Given the description of an element on the screen output the (x, y) to click on. 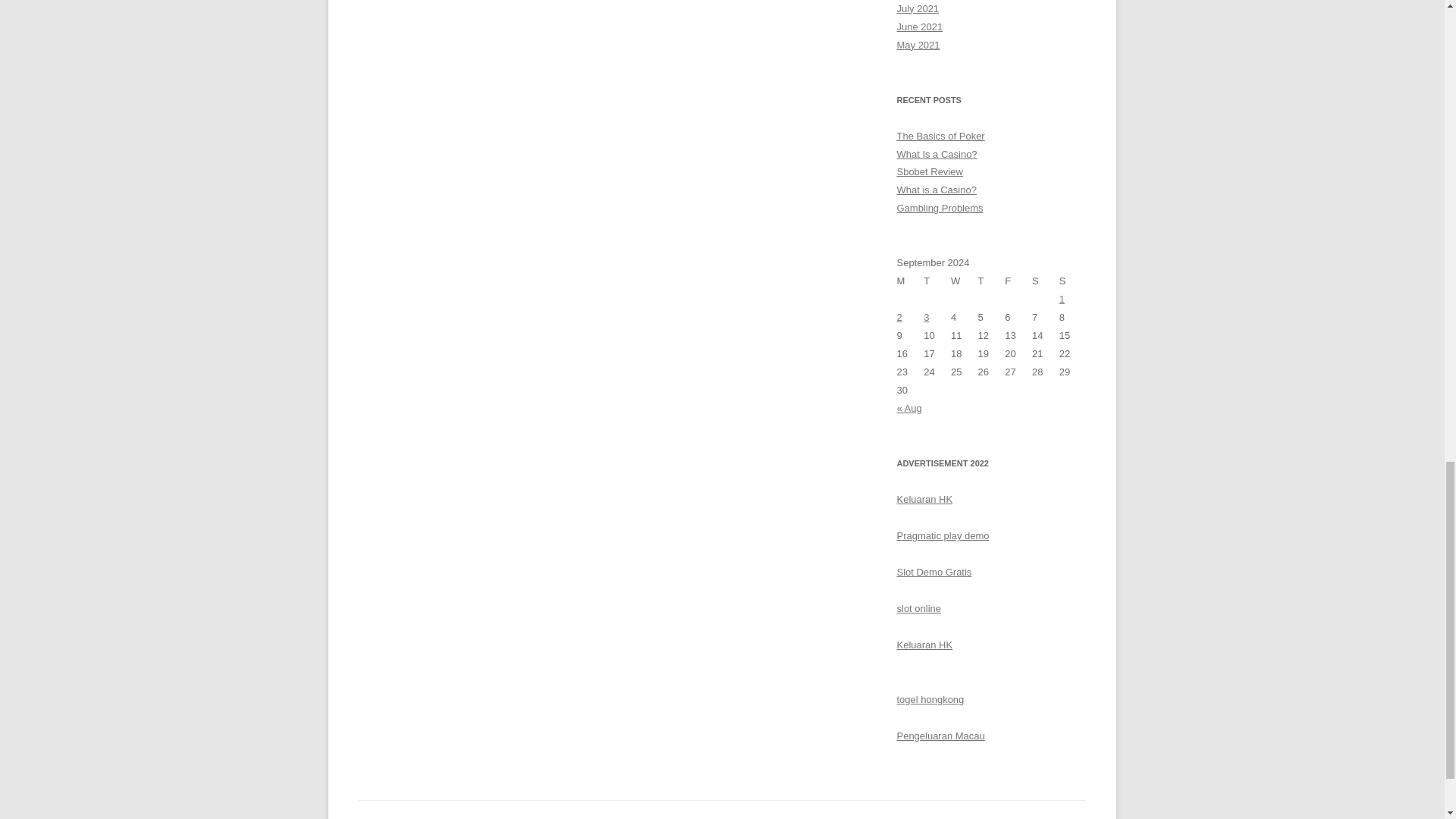
Thursday (992, 280)
Saturday (1045, 280)
Wednesday (964, 280)
Tuesday (936, 280)
Monday (909, 280)
Friday (1018, 280)
Sunday (1072, 280)
